Given the description of an element on the screen output the (x, y) to click on. 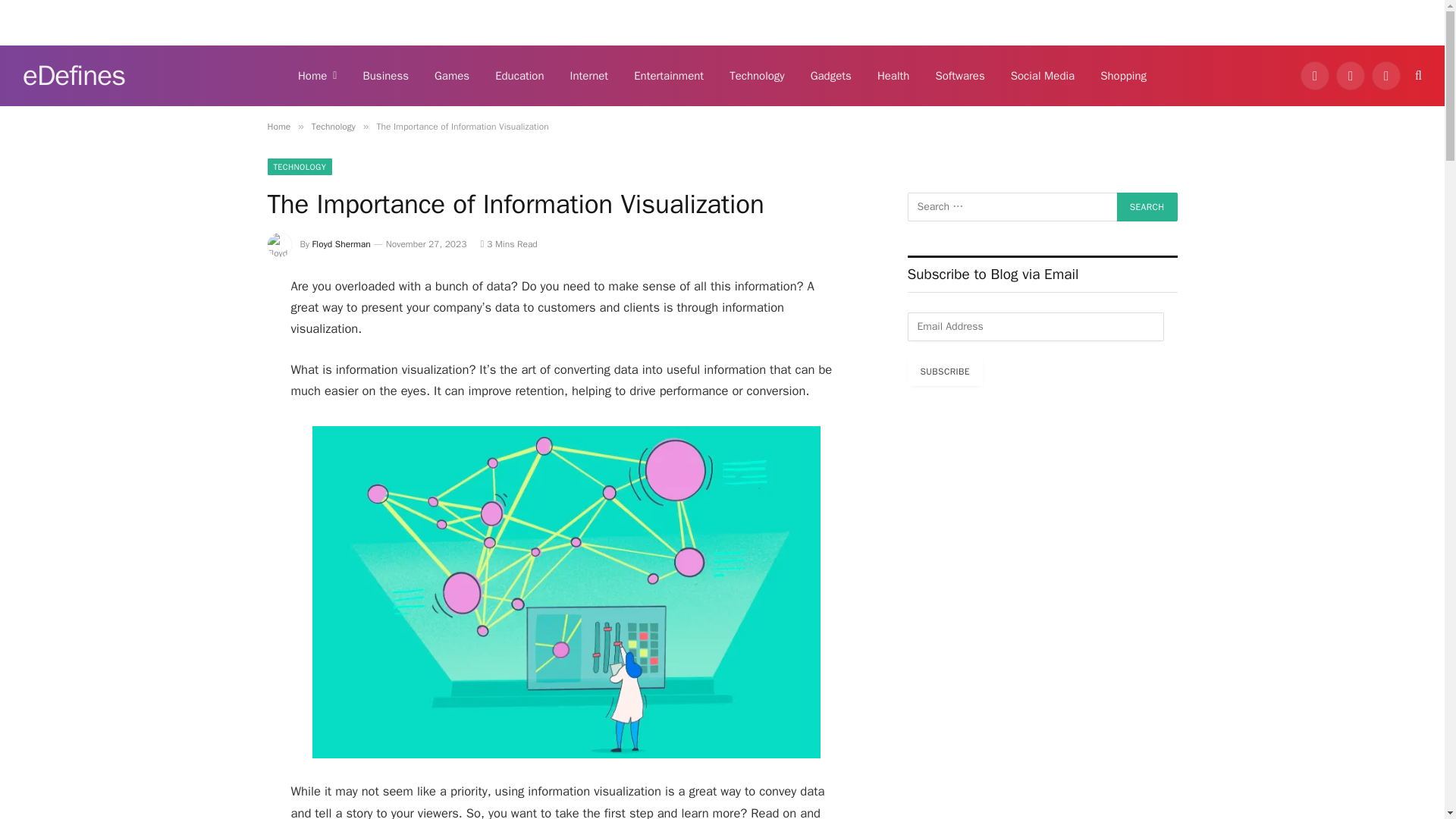
Home (317, 75)
TECHNOLOGY (298, 166)
eDefines (74, 75)
Business (385, 75)
Posts by Floyd Sherman (342, 244)
Search (1146, 206)
Shopping (1122, 75)
Gadgets (830, 75)
Facebook (1314, 75)
Education (518, 75)
Internet (589, 75)
Social Media (1042, 75)
Search (1146, 206)
Games (451, 75)
Technology (333, 126)
